Given the description of an element on the screen output the (x, y) to click on. 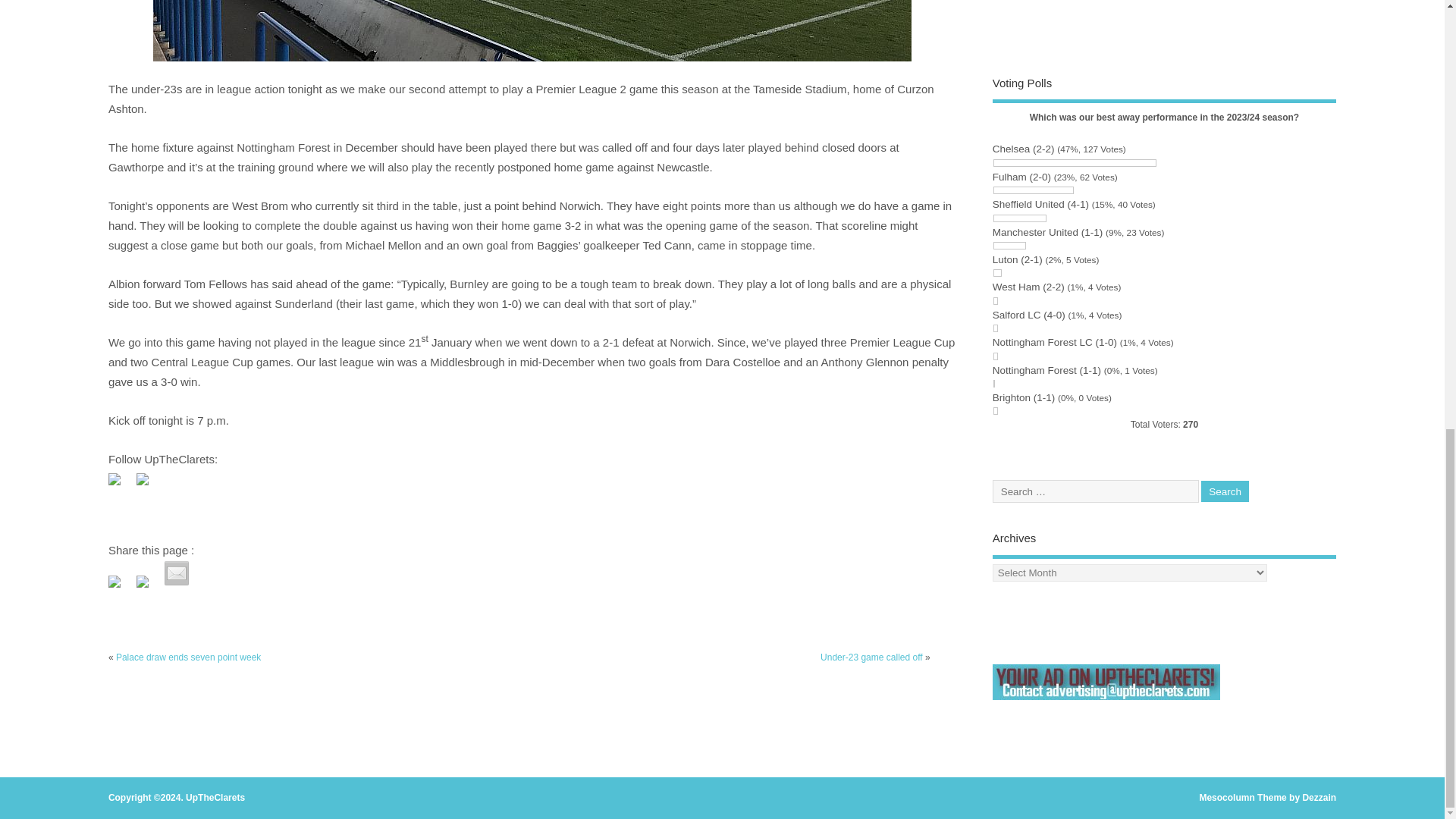
Search (1225, 491)
Search (1225, 491)
